Given the description of an element on the screen output the (x, y) to click on. 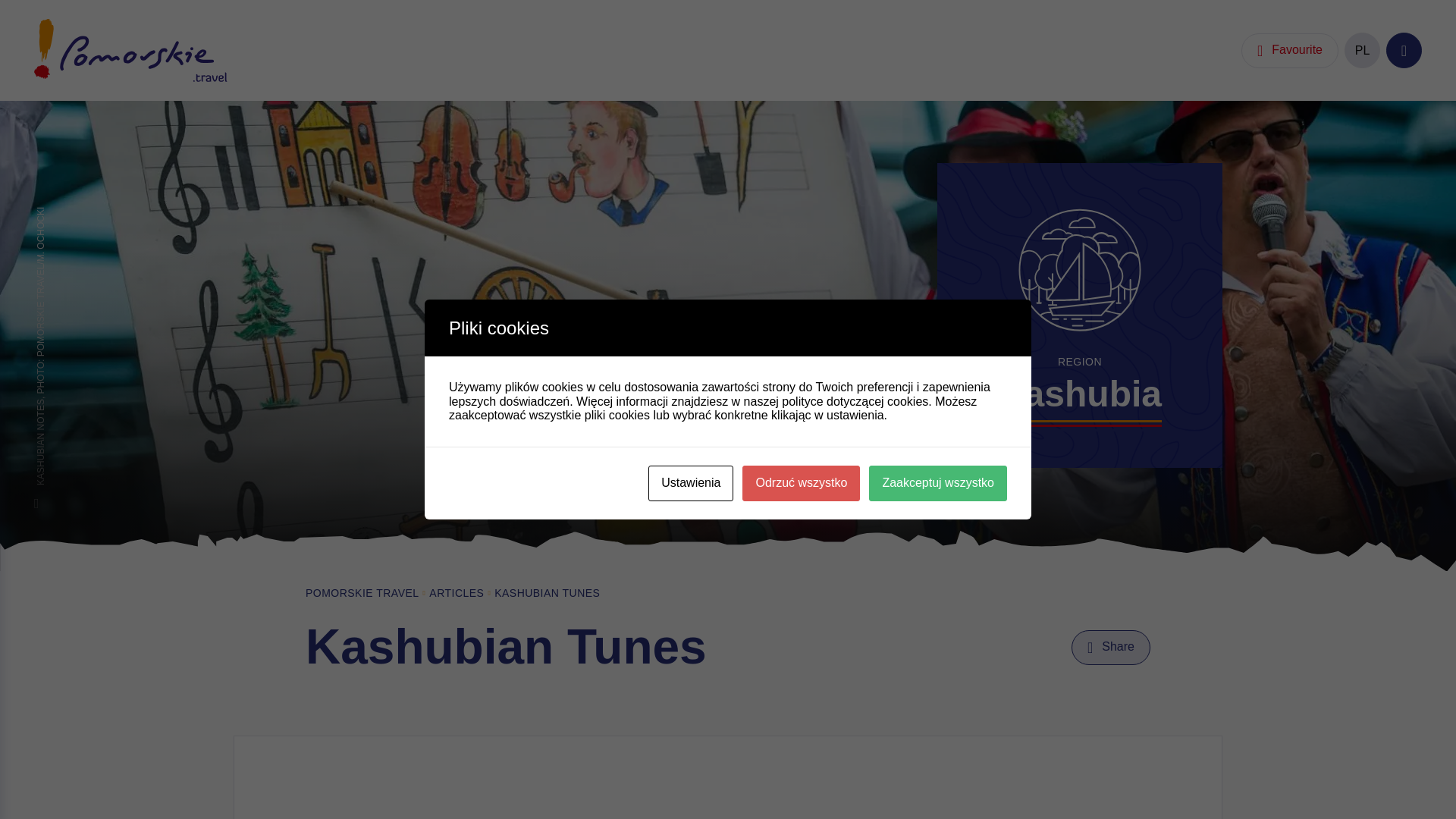
ARTICLES (456, 593)
PL (1361, 49)
Share (1110, 647)
POMORSKIE TRAVEL (362, 593)
Favourite (1289, 50)
